Given the description of an element on the screen output the (x, y) to click on. 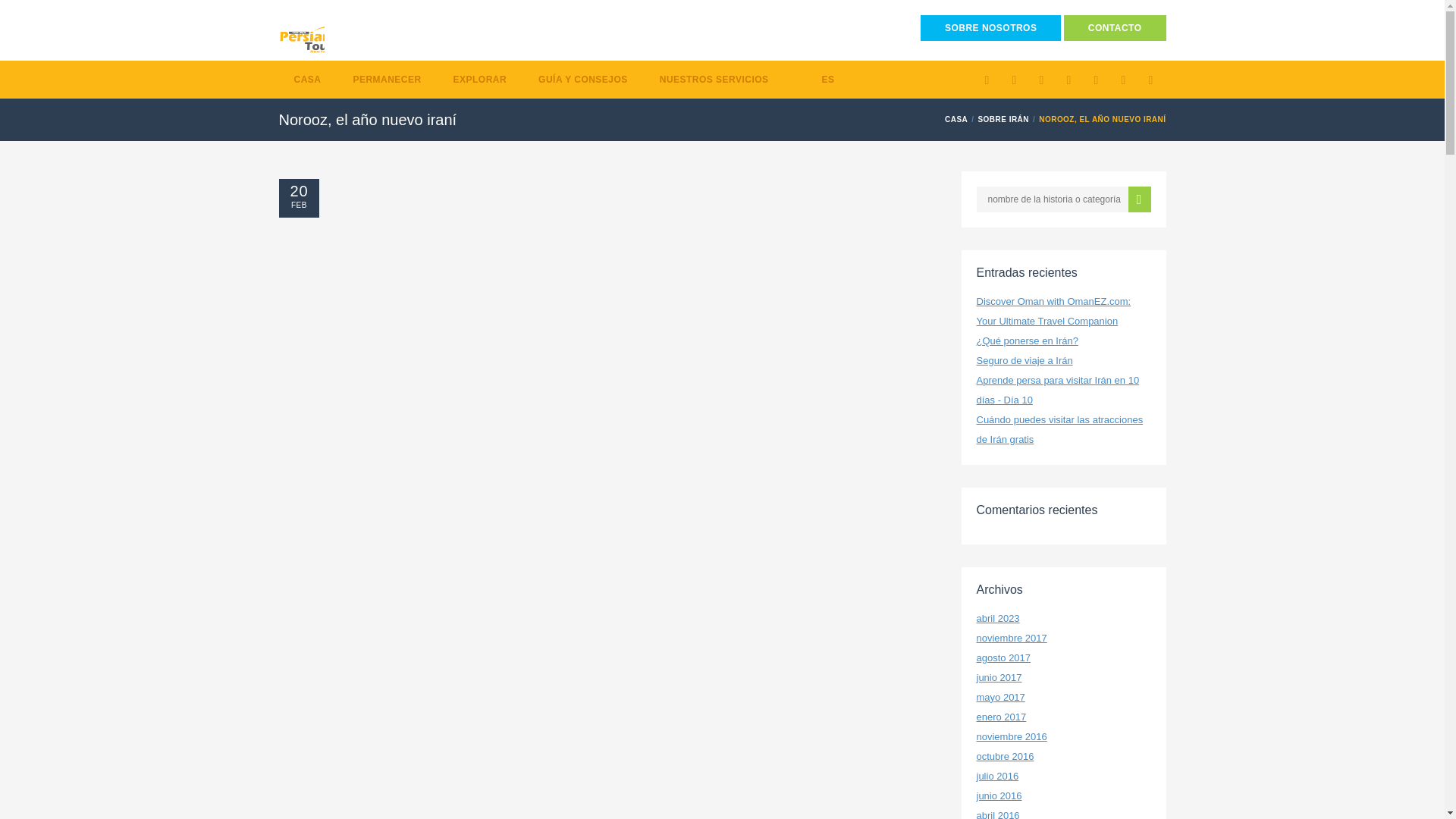
gorjeo (986, 79)
ES (818, 79)
EXPLORAR (480, 79)
Google Mas (1014, 79)
SOBRE NOSOTROS (990, 27)
NUESTROS SERVICIOS (714, 79)
CONTACTO (1115, 27)
CASA (307, 79)
PERMANECER (386, 79)
